Given the description of an element on the screen output the (x, y) to click on. 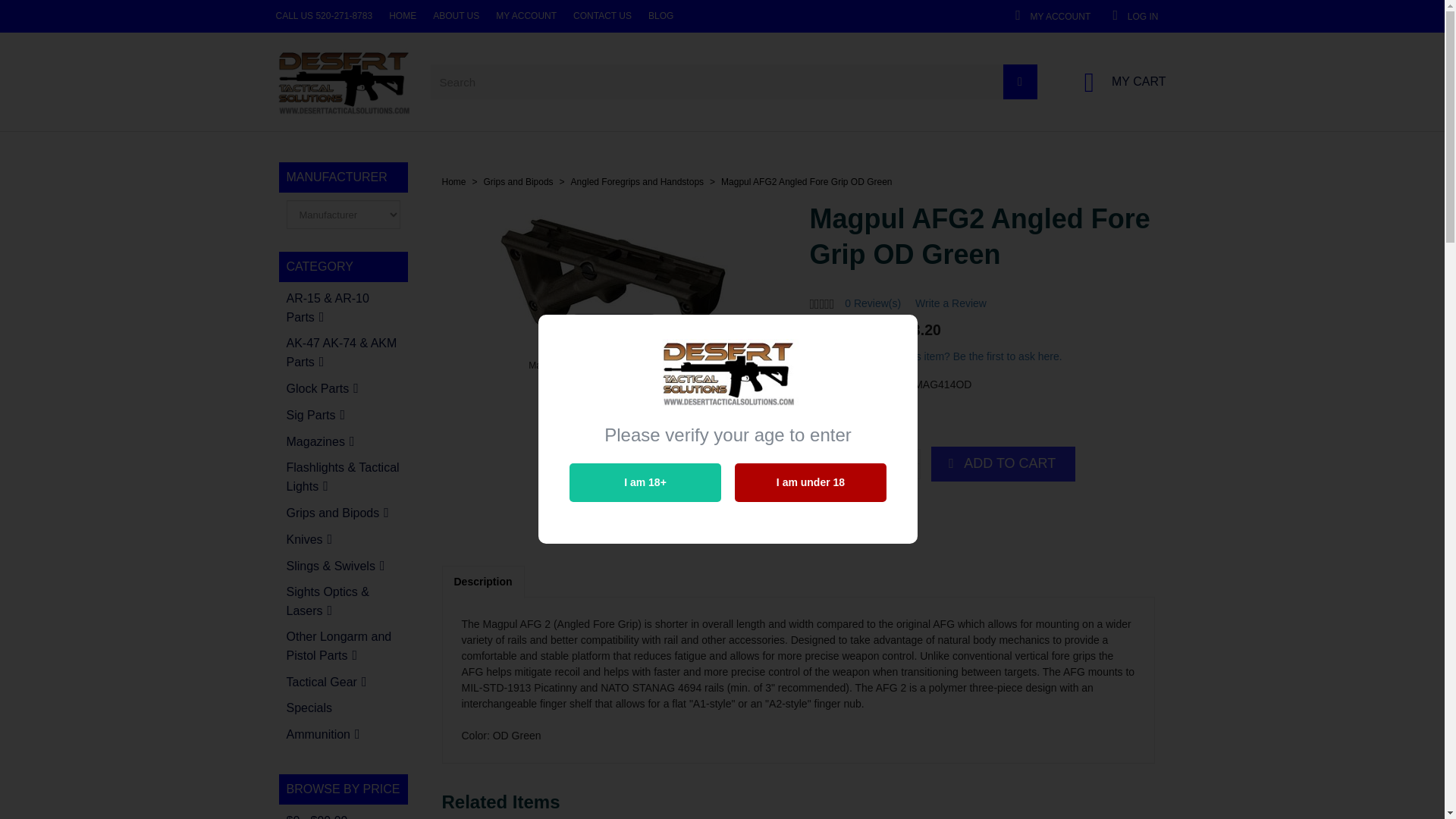
ABOUT US (119, 15)
MY ACCOUNT (230, 15)
CONTACT US (326, 15)
BLOG (421, 15)
1 (1118, 81)
Magpul AFG2 Angled Fore Grip OD Green  (890, 463)
HOME (613, 365)
